Given the description of an element on the screen output the (x, y) to click on. 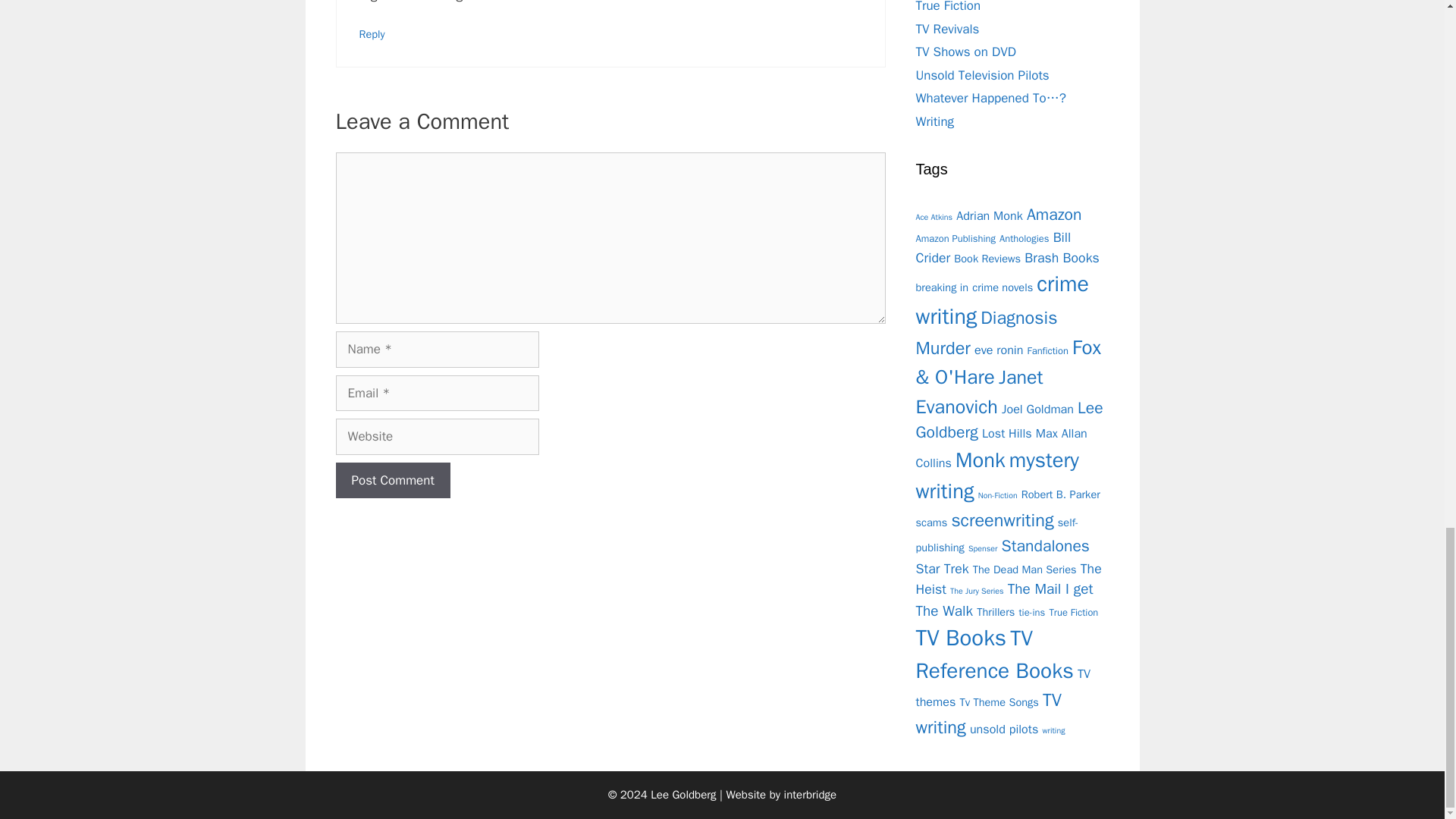
Post Comment (391, 480)
